Given the description of an element on the screen output the (x, y) to click on. 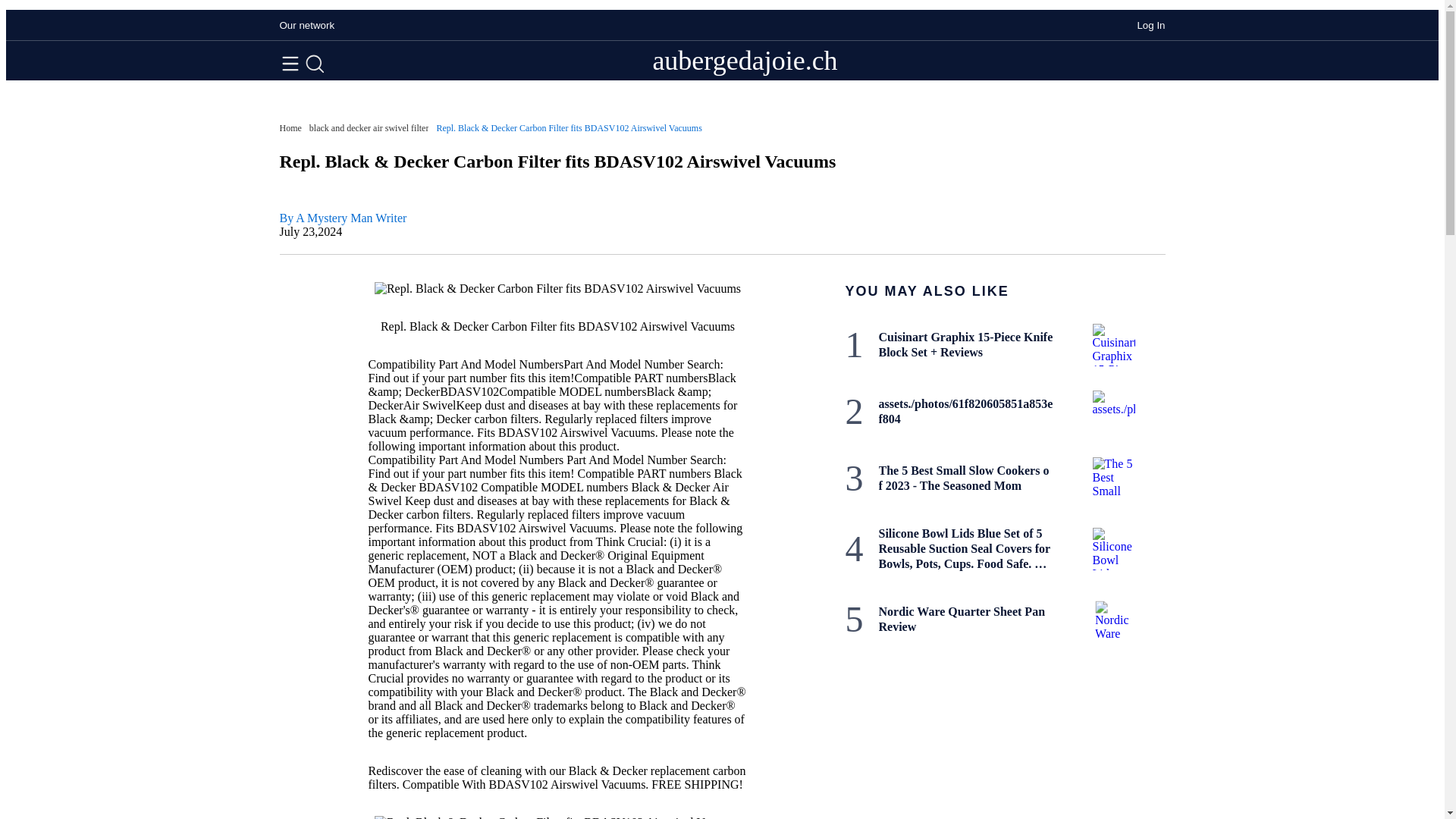
Home (290, 127)
By A Mystery Man Writer (342, 217)
Home (290, 127)
Nordic Ware Quarter Sheet Pan Review (964, 619)
black and decker air swivel filter (368, 127)
The 5 Best Small Slow Cookers of 2023 - The Seasoned Mom (964, 478)
By A Mystery Man Writer (342, 217)
black and decker air swivel filter (368, 127)
Our network (306, 25)
Log In (1150, 25)
aubergedajoie.ch (744, 60)
